Given the description of an element on the screen output the (x, y) to click on. 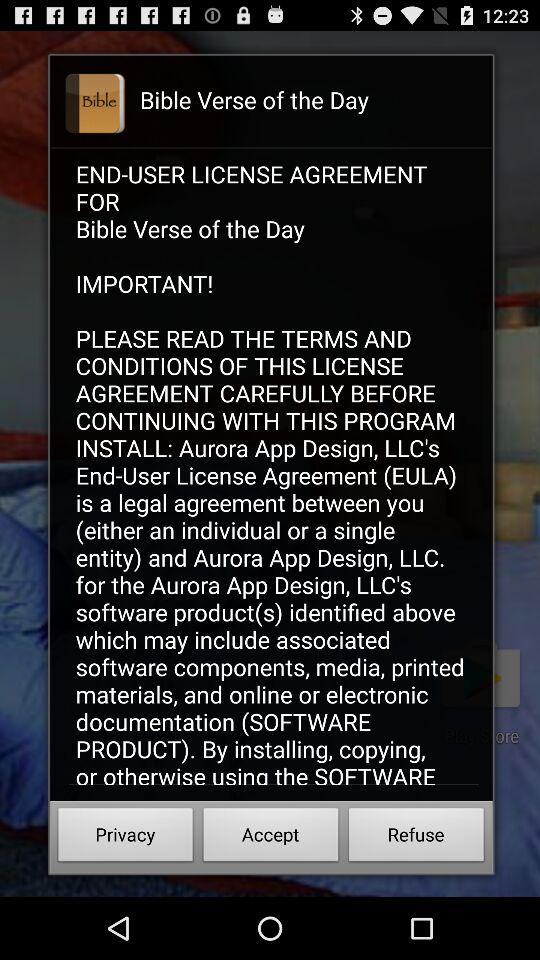
scroll until accept button (270, 837)
